Given the description of an element on the screen output the (x, y) to click on. 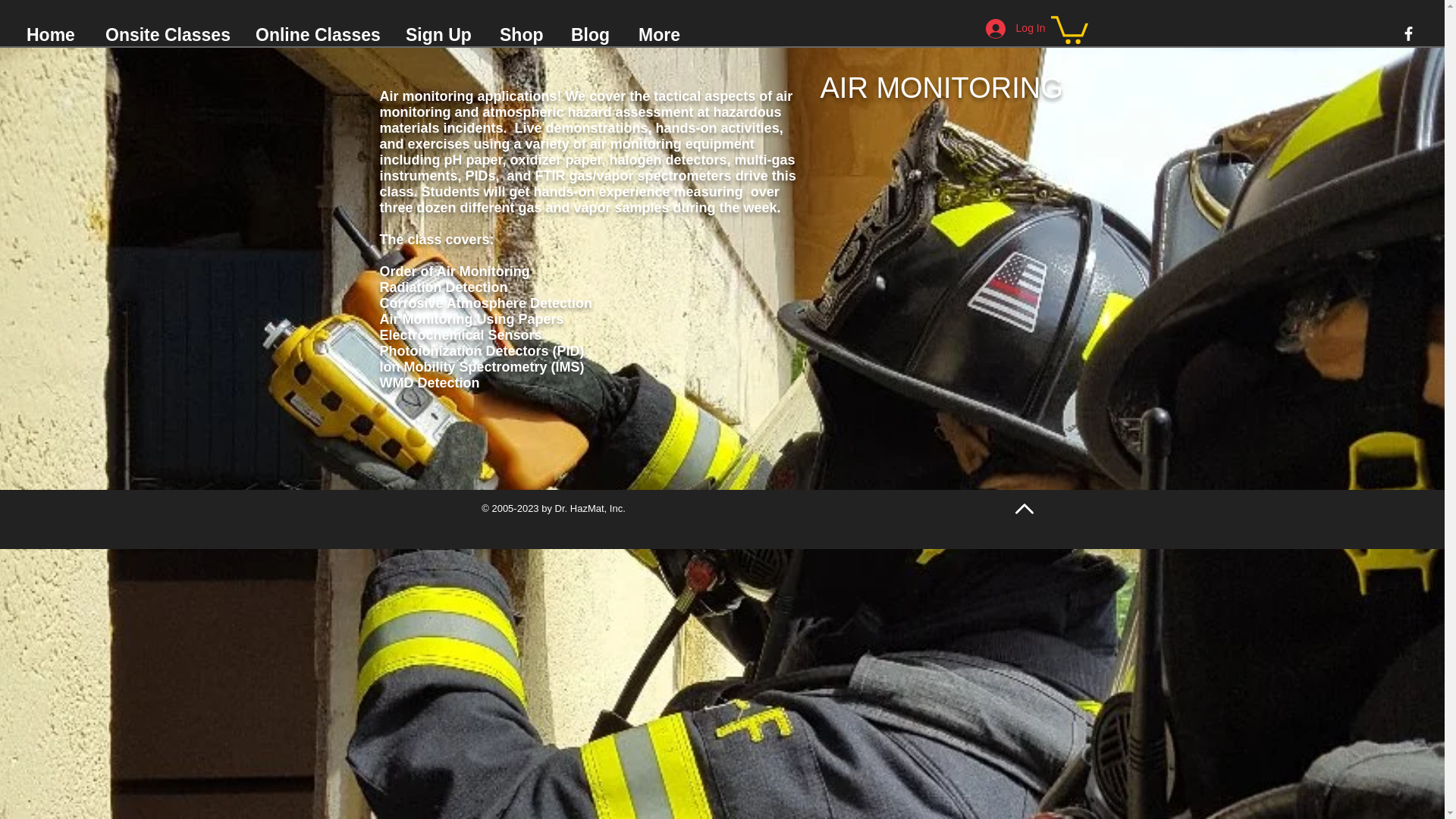
Onsite Classes (169, 34)
Home (54, 34)
Blog (593, 34)
Log In (1016, 28)
Shop (523, 34)
Sign Up (440, 34)
Online Classes (319, 34)
